Given the description of an element on the screen output the (x, y) to click on. 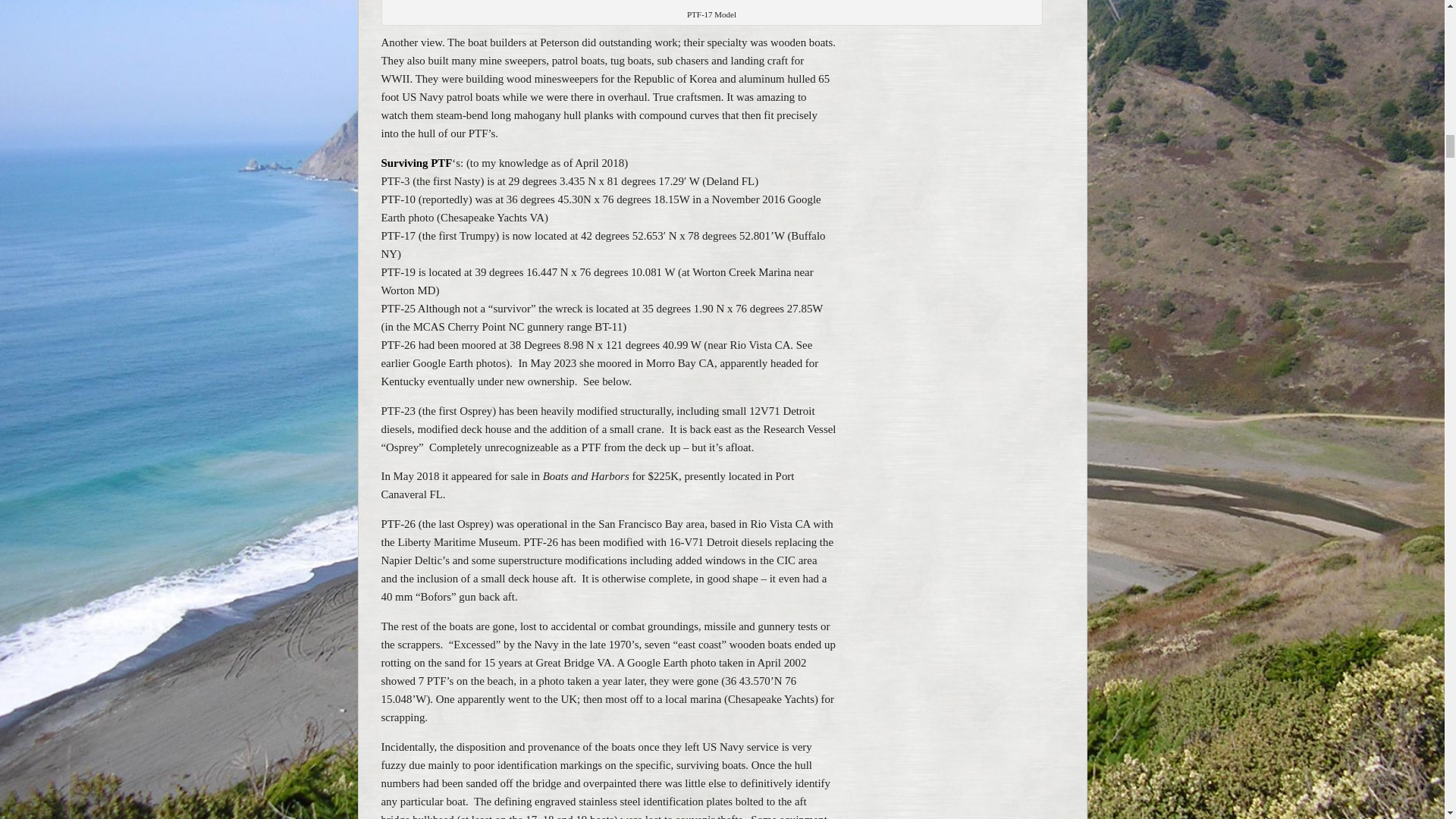
OLYMPUS DIGITAL CAMERA (710, 4)
